Given the description of an element on the screen output the (x, y) to click on. 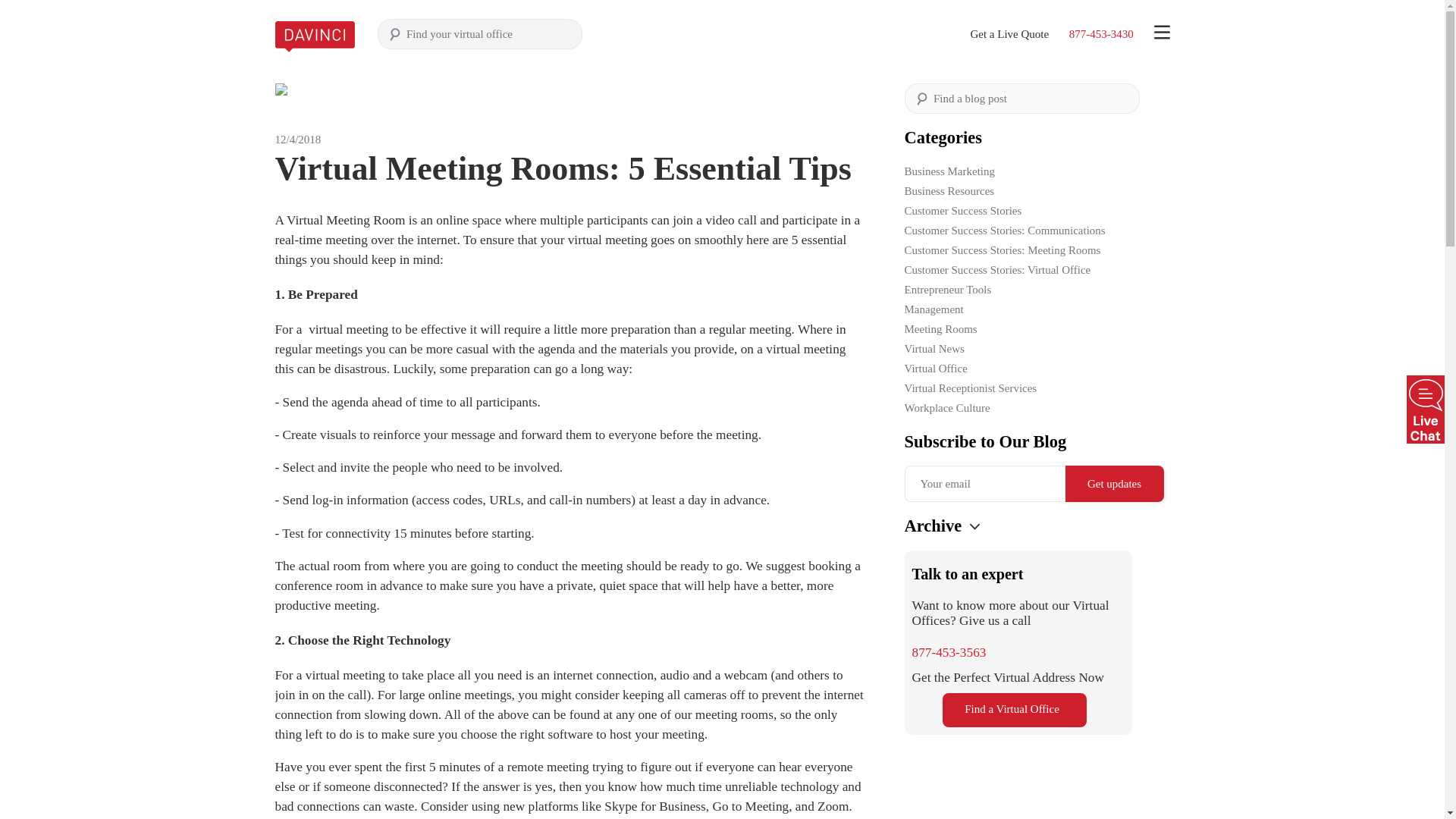
Get a Live Quote (1008, 33)
877-453-3430 (1101, 33)
Click to Show Archives (974, 526)
